Given the description of an element on the screen output the (x, y) to click on. 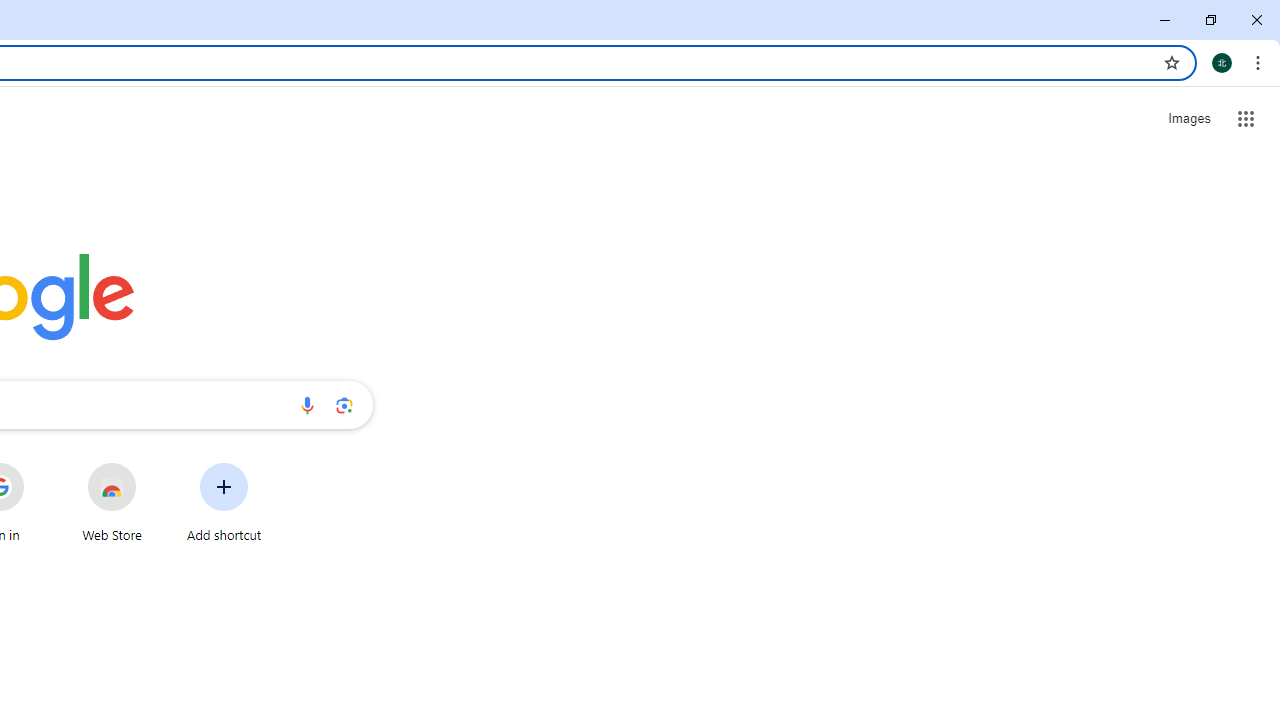
More actions for Sign in shortcut (39, 464)
More actions for Web Store shortcut (152, 464)
Web Store (111, 502)
